Given the description of an element on the screen output the (x, y) to click on. 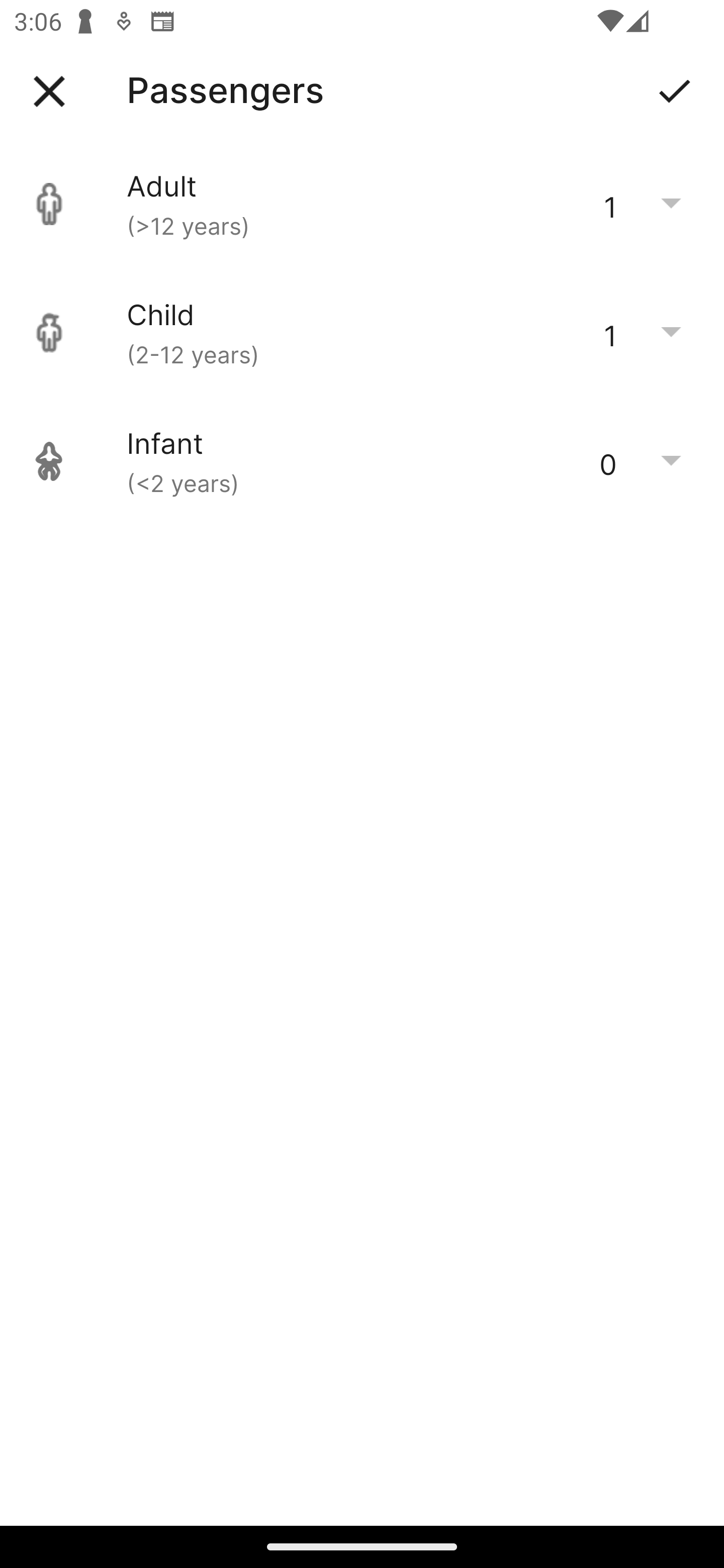
Adult (>12 years) 1 (362, 204)
Child (2-12 years) 1 (362, 332)
Infant (<2 years) 0 (362, 461)
